Given the description of an element on the screen output the (x, y) to click on. 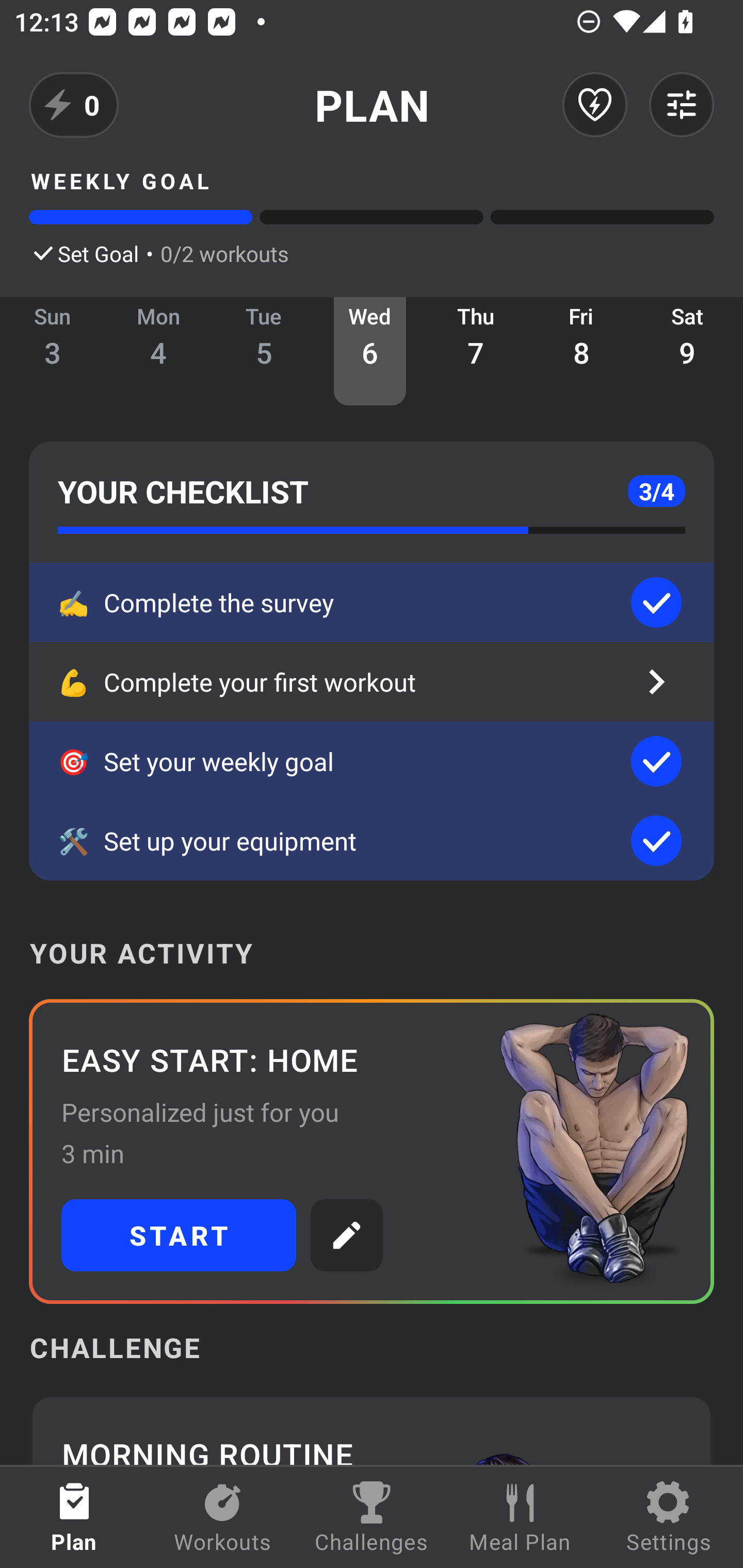
0 (73, 104)
Sun 3 (52, 351)
Mon 4 (158, 351)
Tue 5 (264, 351)
Wed 6 (369, 351)
Thu 7 (475, 351)
Fri 8 (581, 351)
Sat 9 (687, 351)
💪 Complete your first workout (371, 681)
START (178, 1235)
 Workouts  (222, 1517)
 Challenges  (371, 1517)
 Meal Plan  (519, 1517)
 Settings  (668, 1517)
